Given the description of an element on the screen output the (x, y) to click on. 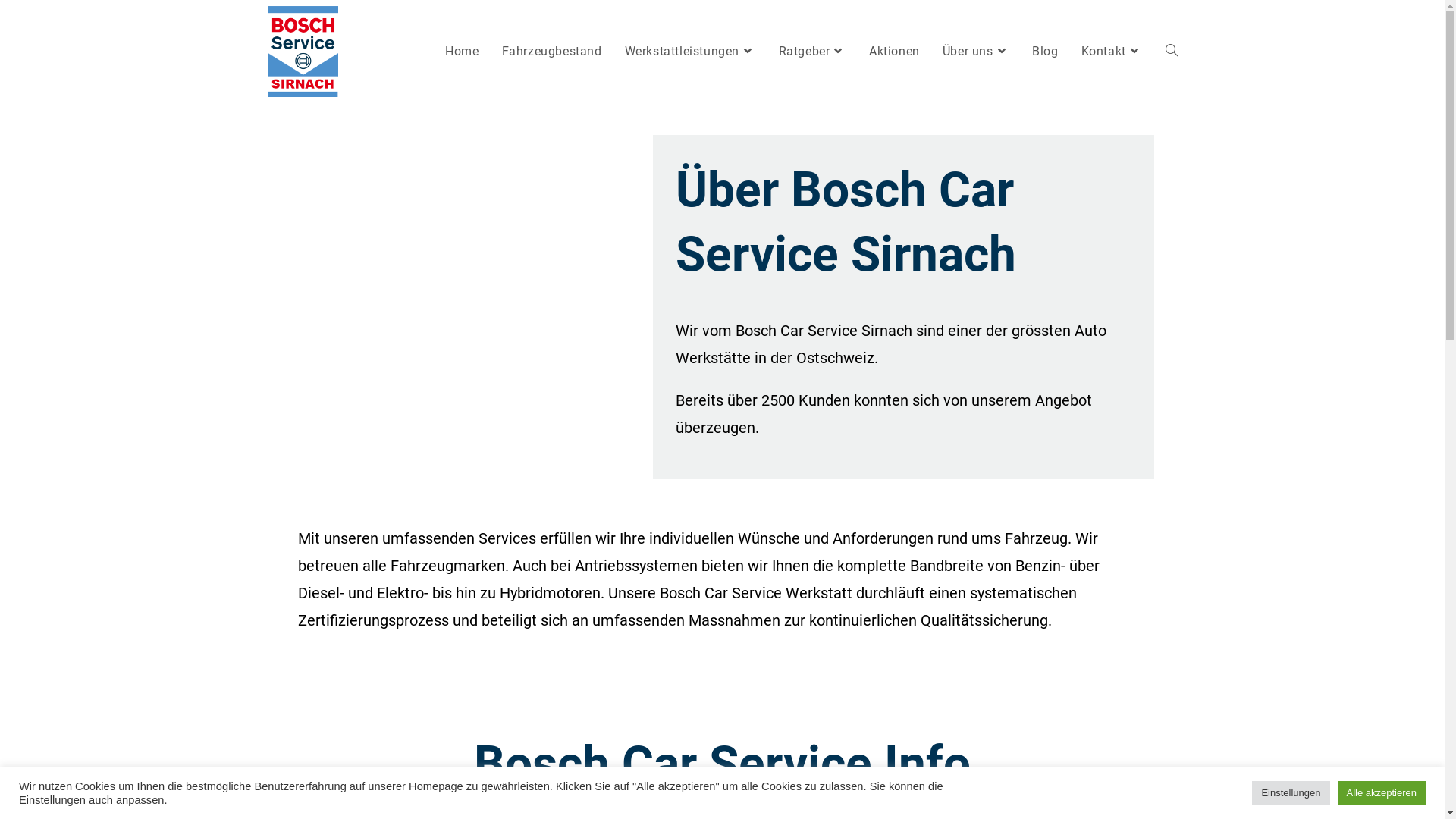
Werkstattleistungen Element type: text (690, 51)
Kontakt Element type: text (1112, 51)
Blog Element type: text (1044, 51)
Ratgeber Element type: text (812, 51)
Alle akzeptieren Element type: text (1381, 792)
Fahrzeugbestand Element type: text (551, 51)
Home Element type: text (461, 51)
Einstellungen Element type: text (1290, 792)
Aktionen Element type: text (894, 51)
